Given the description of an element on the screen output the (x, y) to click on. 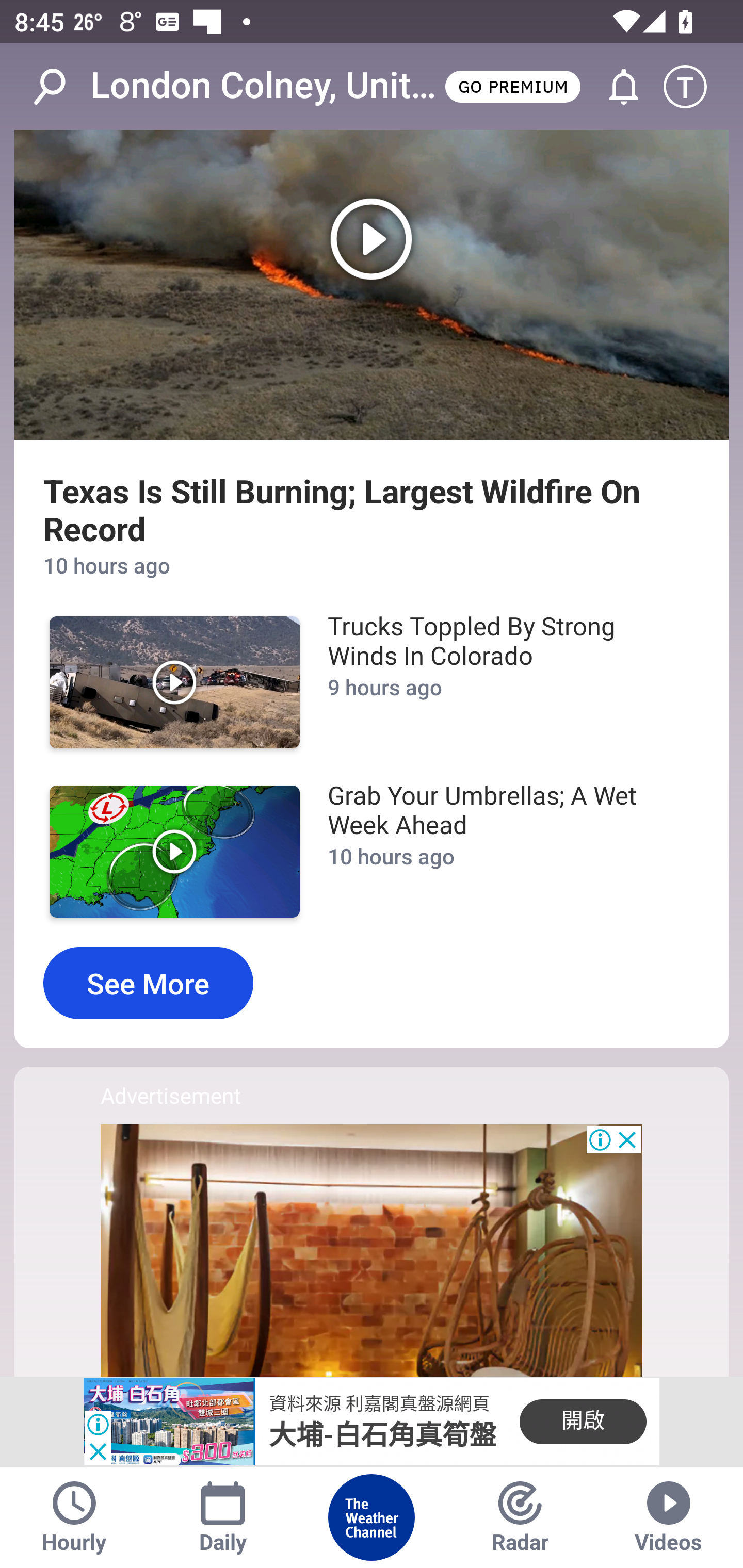
Search (59, 86)
Go to Alerts and Notifications (614, 86)
Setting icon T (694, 86)
London Colney, United Kingdom (265, 85)
GO PREMIUM (512, 85)
Play (371, 285)
Play (174, 681)
Grab Your Umbrellas; A Wet Week Ahead 10 hours ago (502, 851)
Play (174, 851)
See More (148, 983)
B30001746 (168, 1421)
資料來源 利嘉閣真盤源網頁 (379, 1403)
開啟 (582, 1421)
大埔-白石角真筍盤 (382, 1434)
Hourly Tab Hourly (74, 1517)
Daily Tab Daily (222, 1517)
Radar Tab Radar (519, 1517)
Videos Tab Videos (668, 1517)
